Given the description of an element on the screen output the (x, y) to click on. 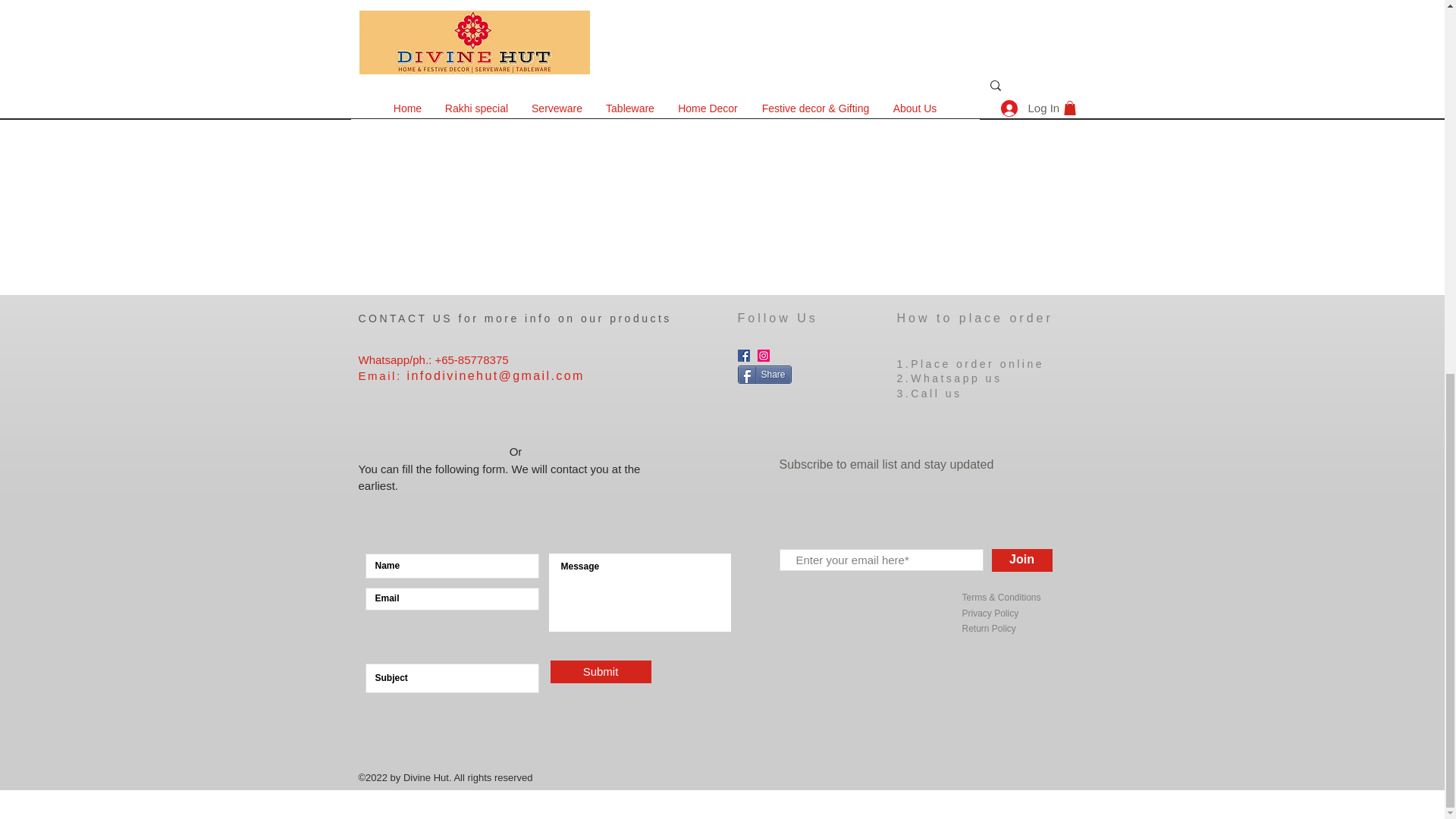
Submit (600, 671)
Share (763, 374)
Next (943, 8)
Share (763, 374)
Previous (515, 8)
Join (1021, 559)
